Given the description of an element on the screen output the (x, y) to click on. 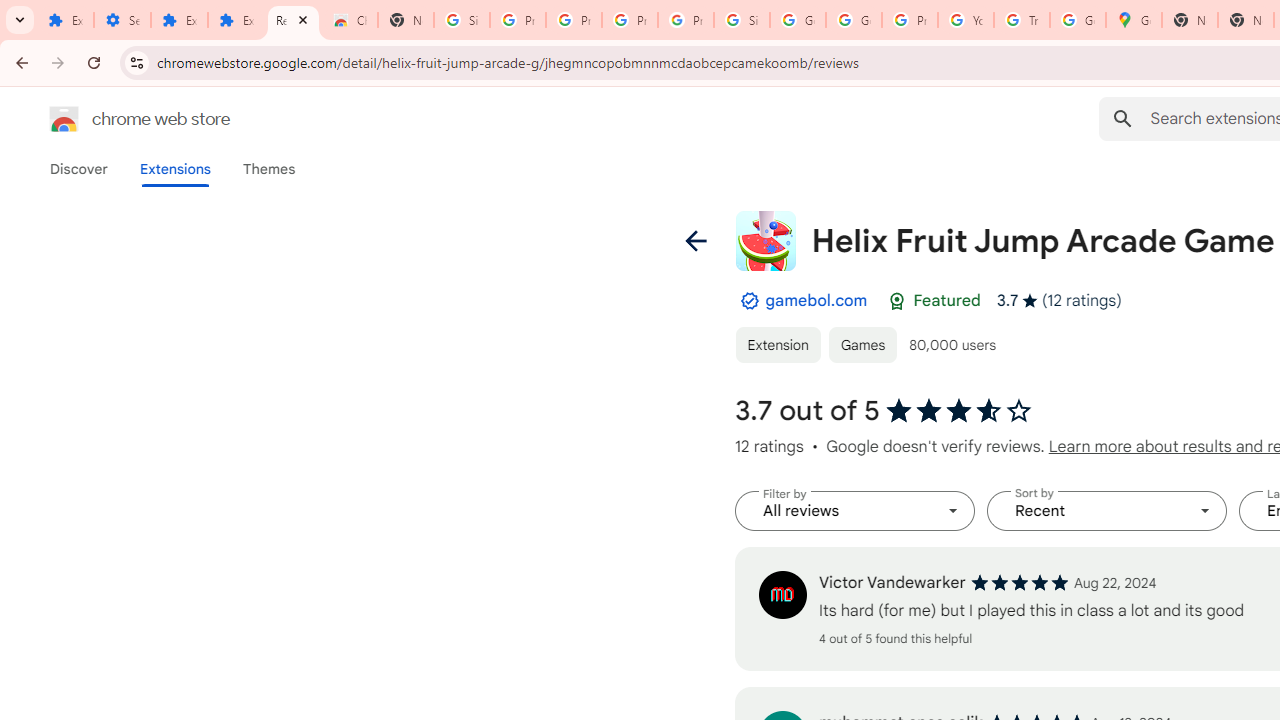
Reviews: Helix Fruit Jump Arcade Game (293, 20)
Sort by Recent (1106, 511)
Navigate back to item detail page (694, 240)
Games (863, 344)
By Established Publisher Badge (749, 301)
Sign in - Google Accounts (742, 20)
Chrome Web Store logo (63, 118)
Sign in - Google Accounts (461, 20)
